Given the description of an element on the screen output the (x, y) to click on. 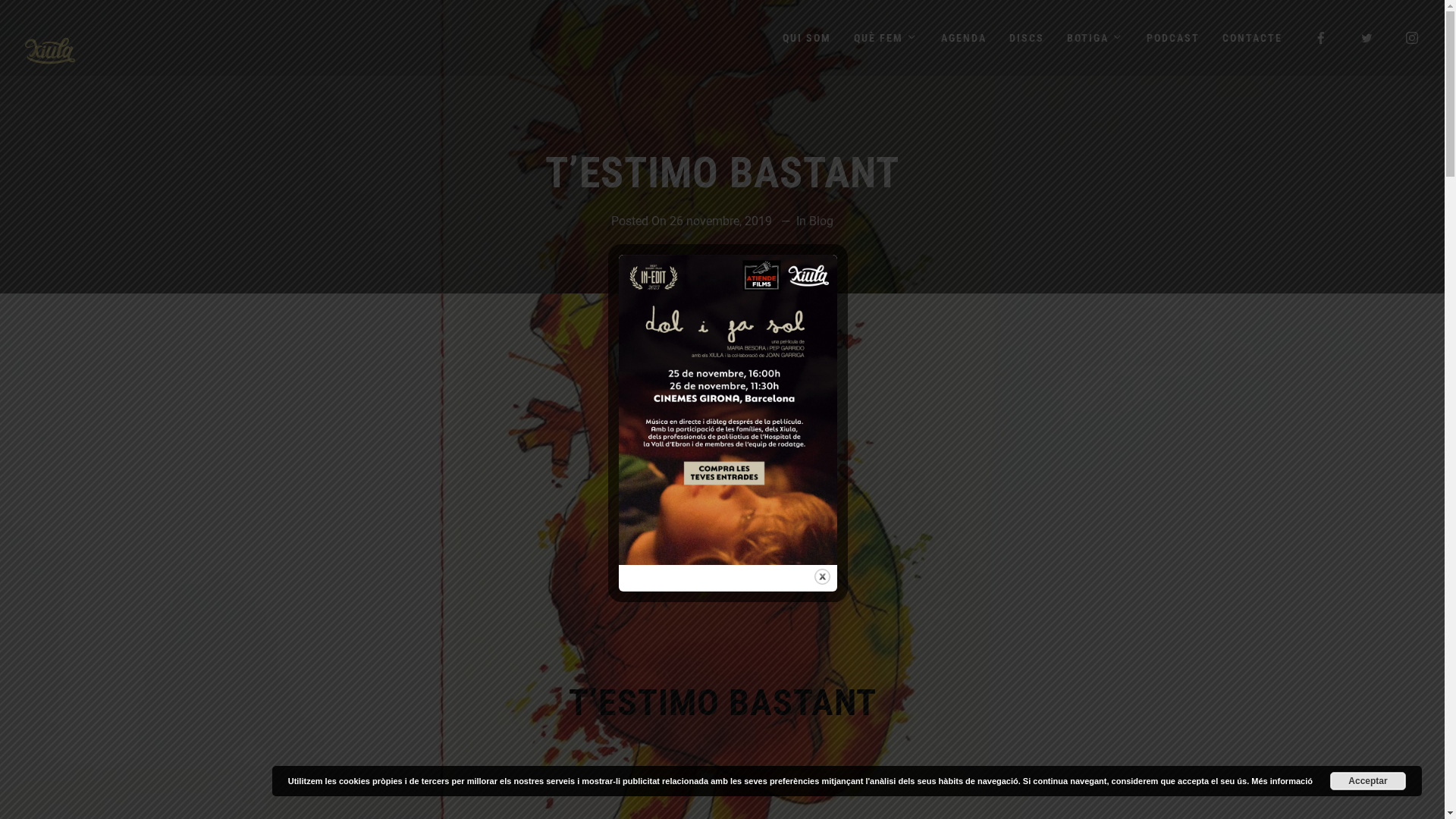
AGENDA Element type: text (963, 37)
facebook Element type: hover (1321, 37)
CONTACTE Element type: text (1252, 37)
Close Element type: hover (822, 576)
QUI SOM Element type: text (806, 37)
PODCAST Element type: text (1173, 37)
instagram Element type: hover (1412, 37)
Blog Element type: text (821, 220)
twitter Element type: hover (1367, 37)
Acceptar Element type: text (1367, 780)
DISCS Element type: text (1026, 37)
BOTIGA Element type: text (1095, 37)
